Given the description of an element on the screen output the (x, y) to click on. 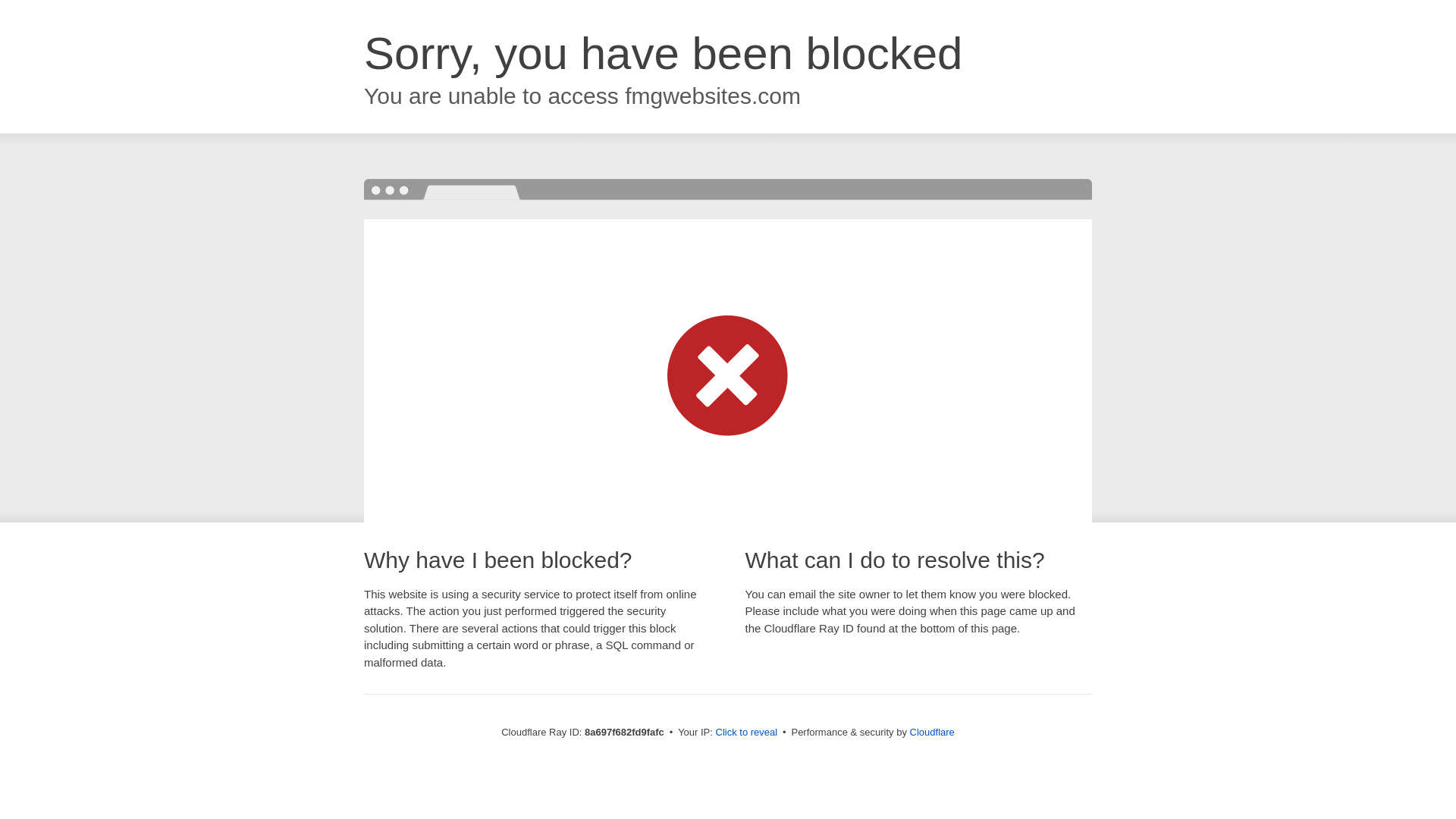
Cloudflare (932, 731)
Click to reveal (746, 732)
